Given the description of an element on the screen output the (x, y) to click on. 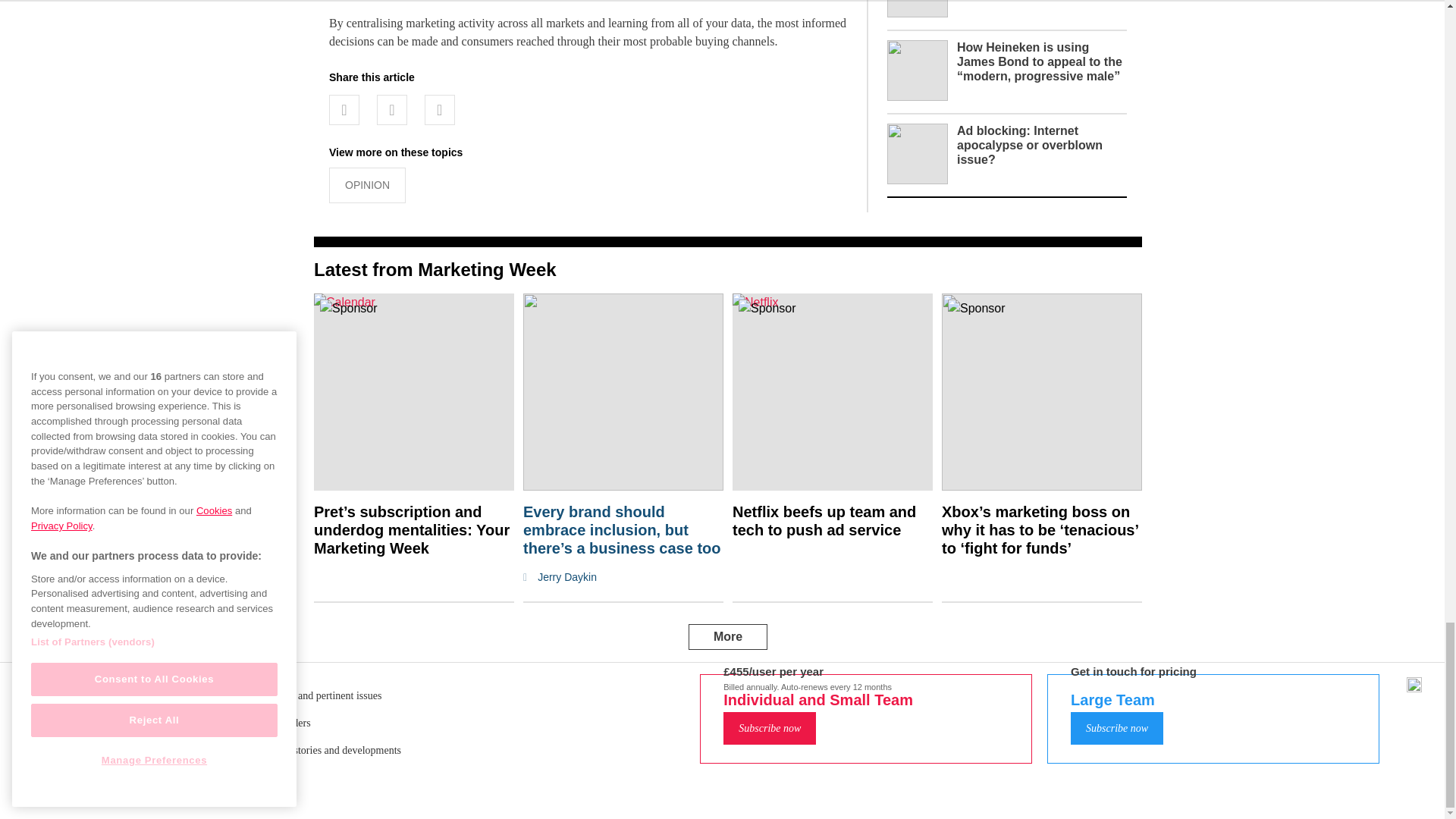
Latest from Marketing Week (435, 269)
OPINION (367, 185)
Privacy (736, 712)
